Given the description of an element on the screen output the (x, y) to click on. 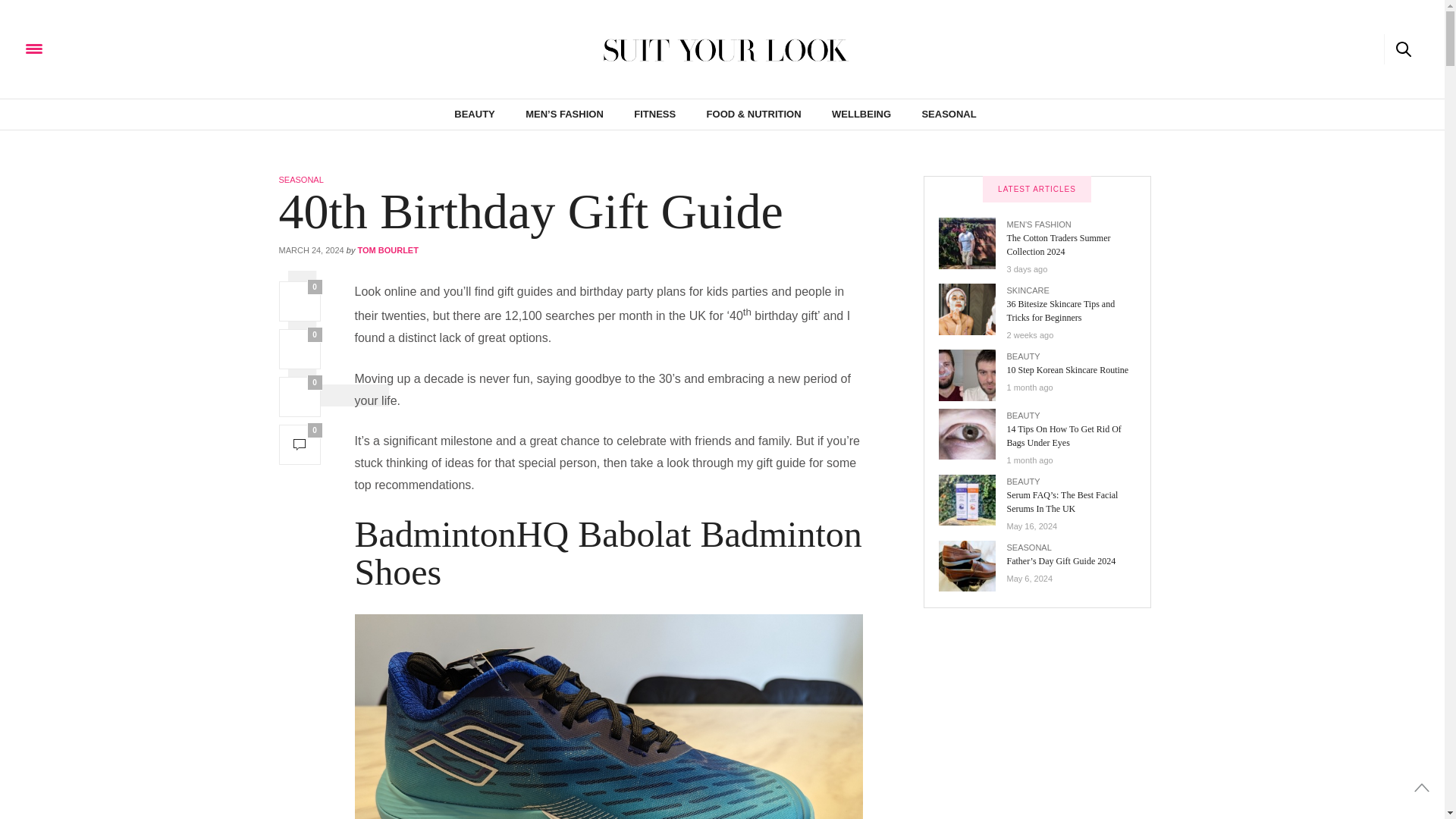
0 (299, 349)
0 (299, 396)
BEAUTY (474, 114)
0 (299, 301)
Suit Your Look (721, 49)
SEASONAL (301, 179)
Suit Your Look (133, 47)
Posts by Tom Bourlet (386, 249)
FITNESS (654, 114)
TOM BOURLET (386, 249)
0 (299, 445)
WELLBEING (861, 114)
SEASONAL (948, 114)
